Given the description of an element on the screen output the (x, y) to click on. 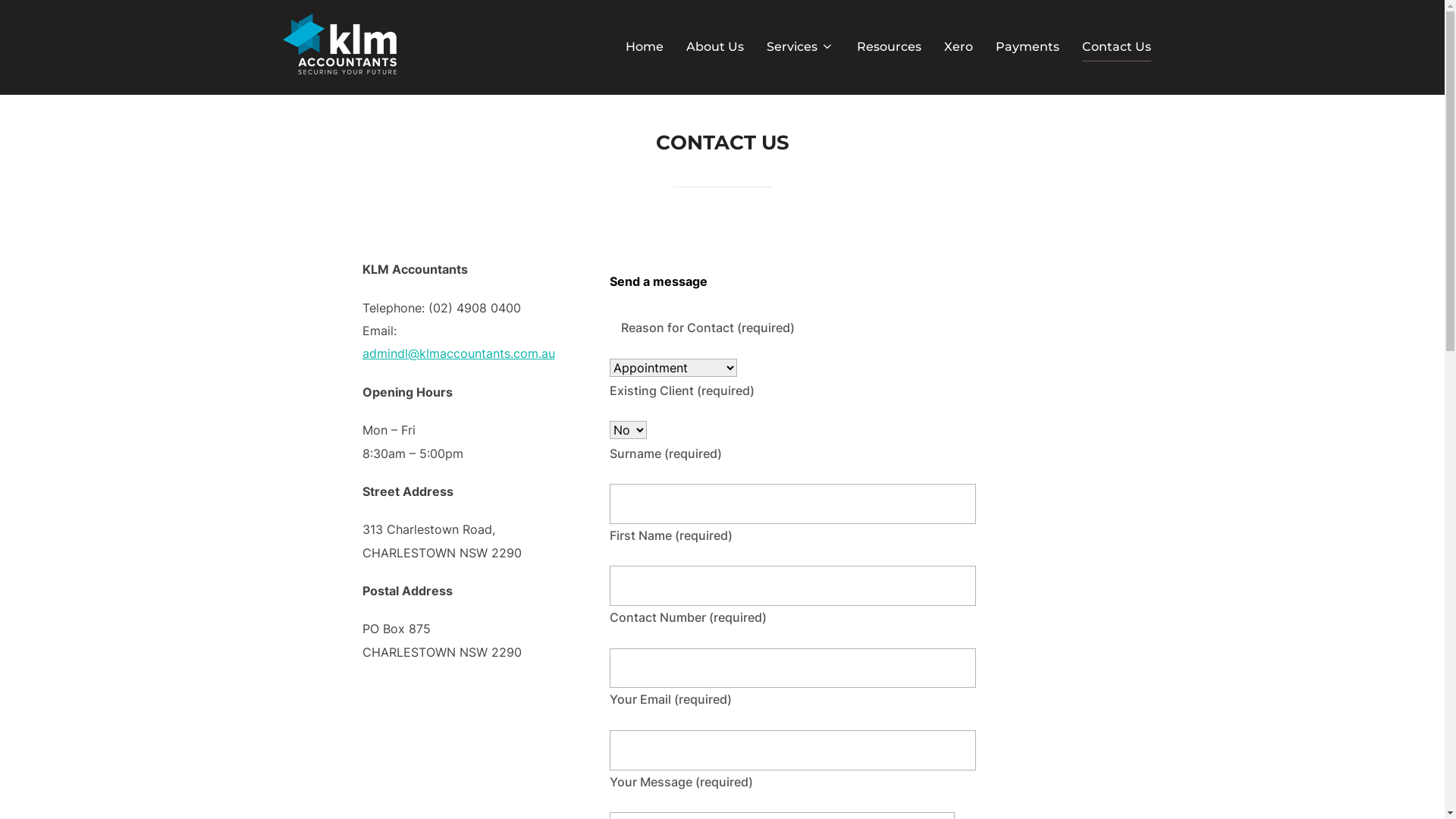
admindl@klmaccountants.com.au Element type: text (458, 352)
Home Element type: text (643, 46)
Services Element type: text (799, 46)
Resources Element type: text (888, 46)
About Us Element type: text (714, 46)
Xero Element type: text (957, 46)
Payments Element type: text (1026, 46)
Contact Us Element type: text (1115, 46)
